Given the description of an element on the screen output the (x, y) to click on. 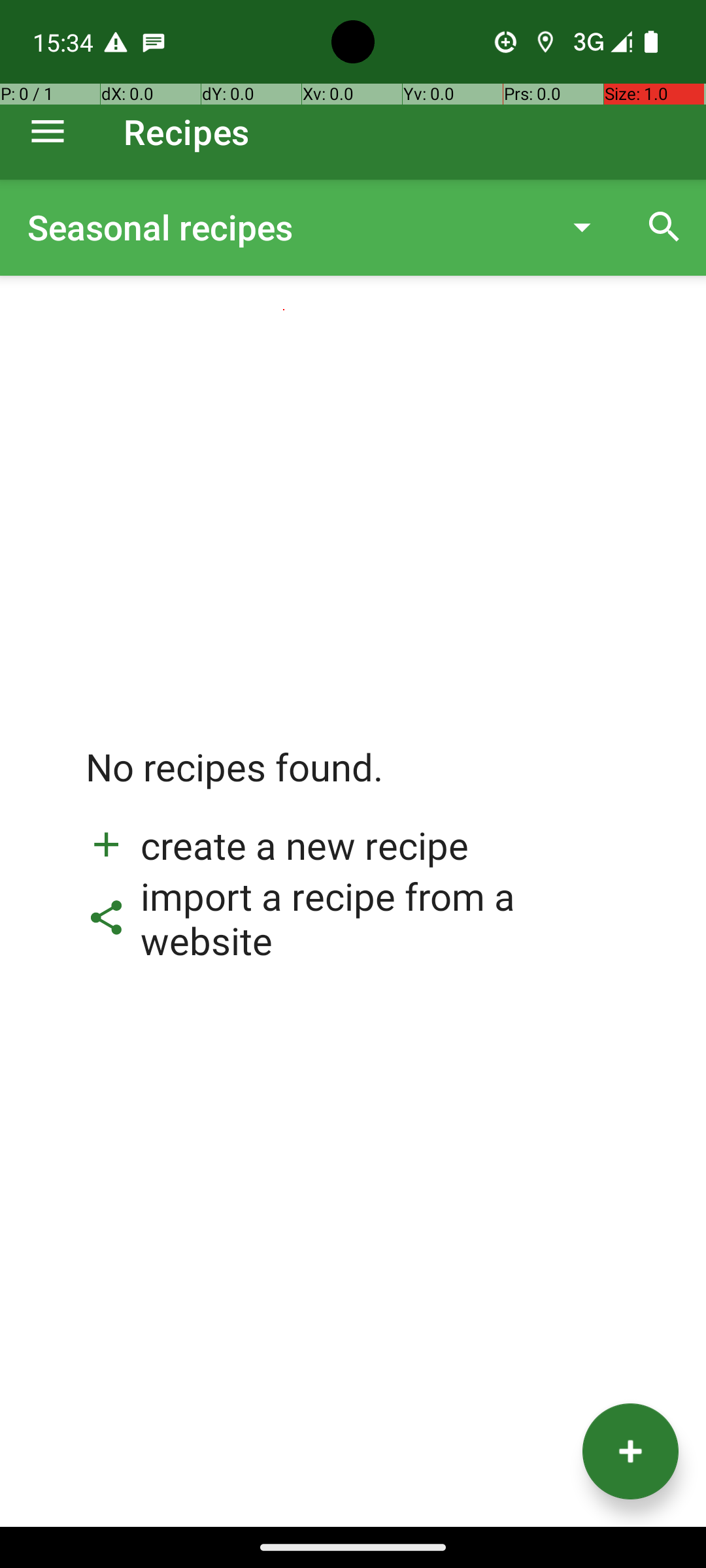
No recipes found. Element type: android.widget.TextView (234, 779)
create a new recipe Element type: android.widget.TextView (276, 844)
import a recipe from a website Element type: android.widget.TextView (352, 917)
Seasonal recipes Element type: android.widget.TextView (283, 226)
